Given the description of an element on the screen output the (x, y) to click on. 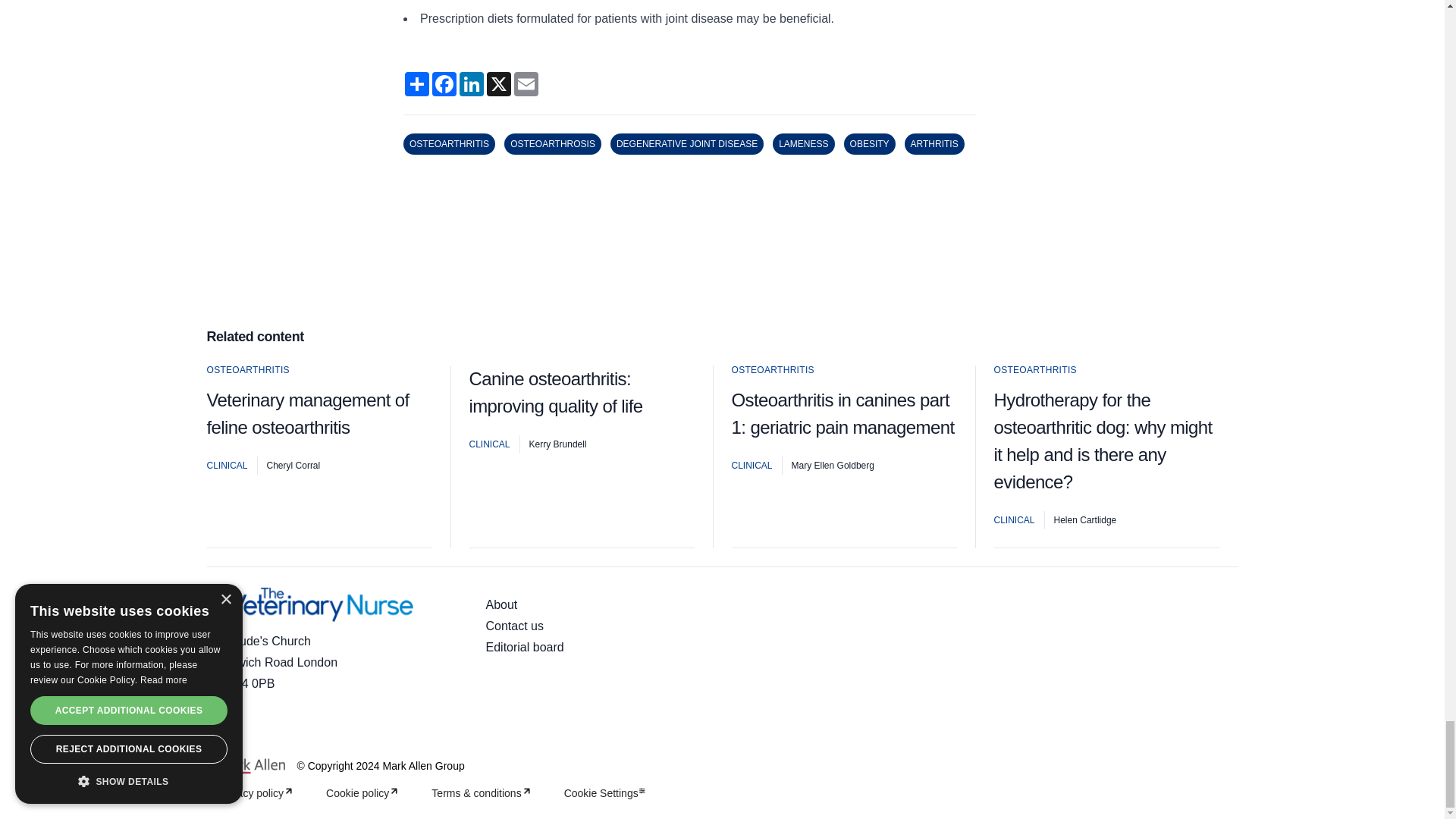
3rd party ad content (721, 255)
